Given the description of an element on the screen output the (x, y) to click on. 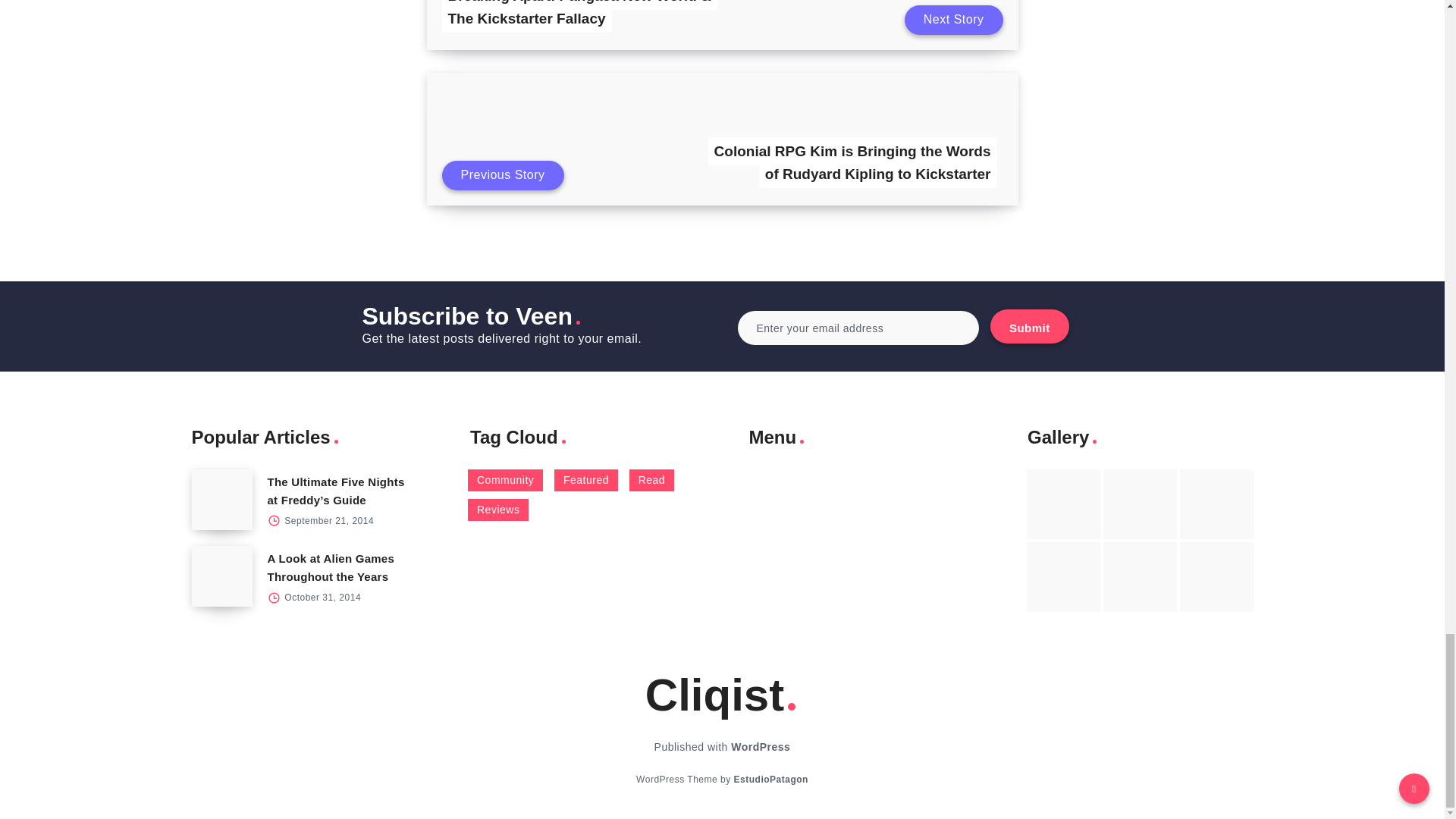
Old music caption (1216, 503)
Powered with Veen (770, 778)
Pink paper over blue background (1063, 503)
Just a nice paint (1139, 576)
Retro Camera (1139, 503)
